Given the description of an element on the screen output the (x, y) to click on. 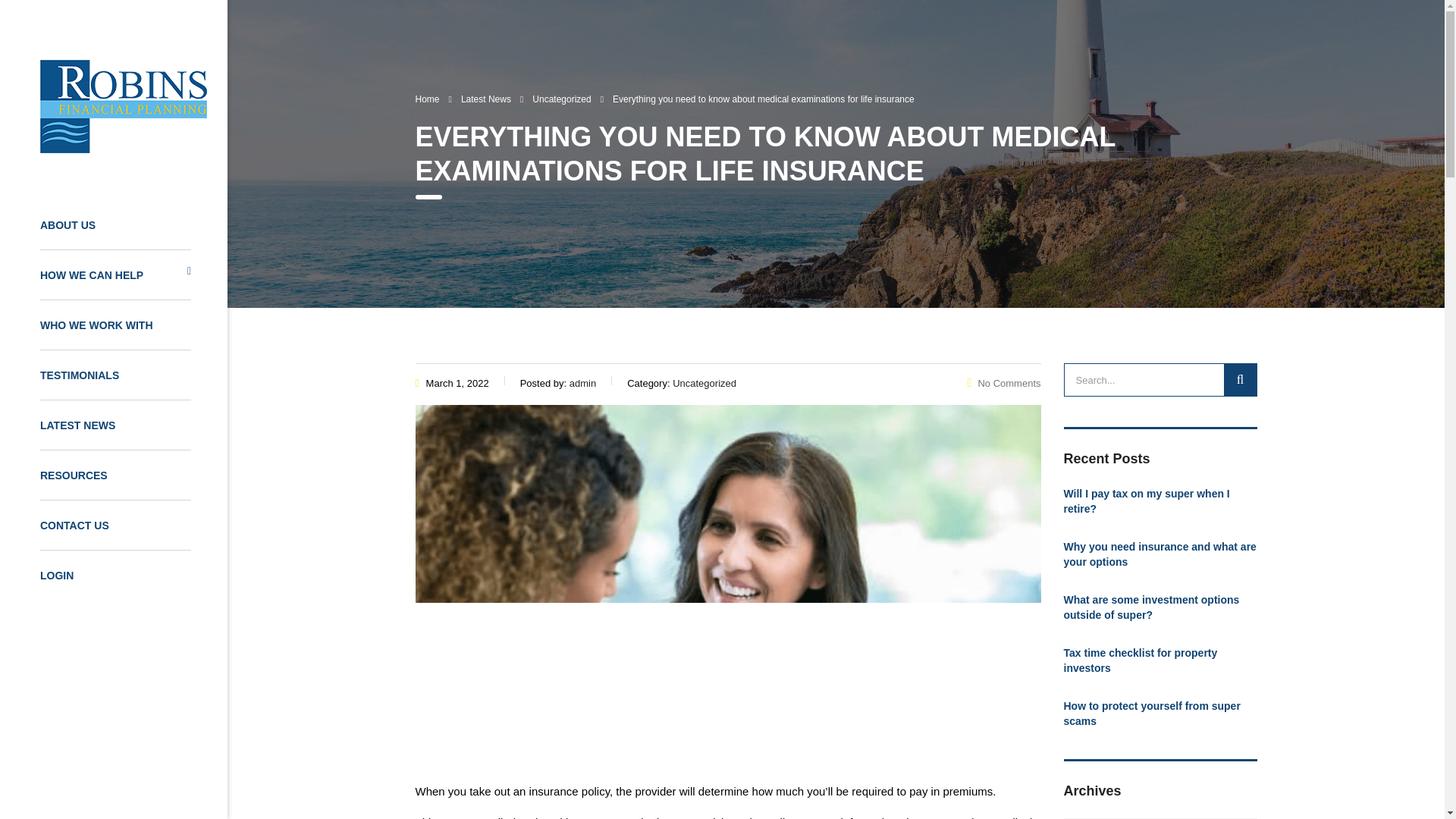
ABOUT US (115, 224)
LATEST NEWS (115, 424)
Latest News (486, 99)
Go to Robins Financial Planning. (426, 99)
Uncategorized (561, 99)
Home (426, 99)
RESOURCES (115, 474)
Go to the Uncategorized category archives. (561, 99)
WHO WE WORK WITH (115, 324)
CONTACT US (115, 524)
